Given the description of an element on the screen output the (x, y) to click on. 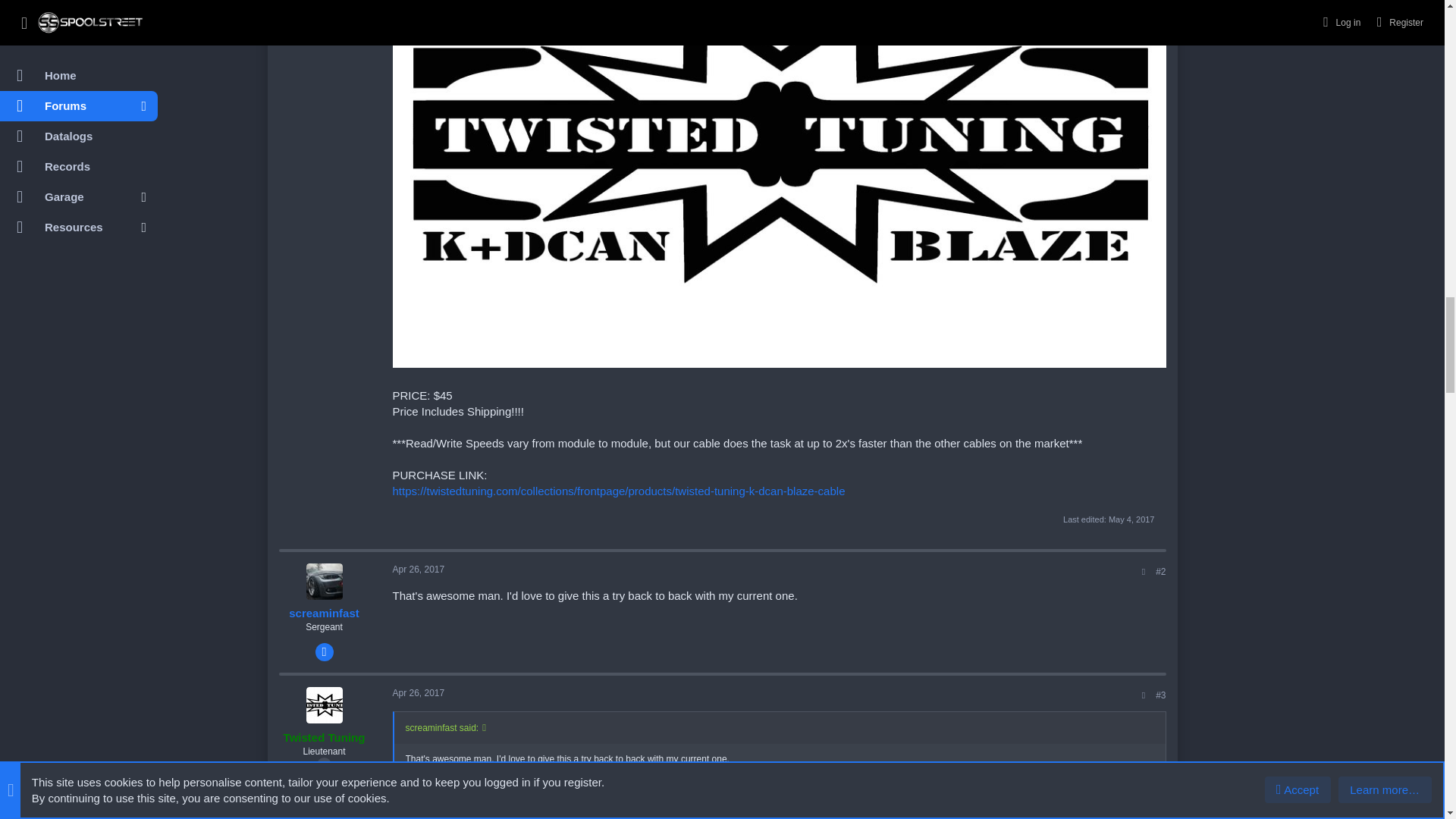
May 4, 2017 at 4:41 PM (1131, 519)
Apr 26, 2017 at 10:14 AM (419, 692)
Apr 26, 2017 at 8:28 AM (419, 569)
